Given the description of an element on the screen output the (x, y) to click on. 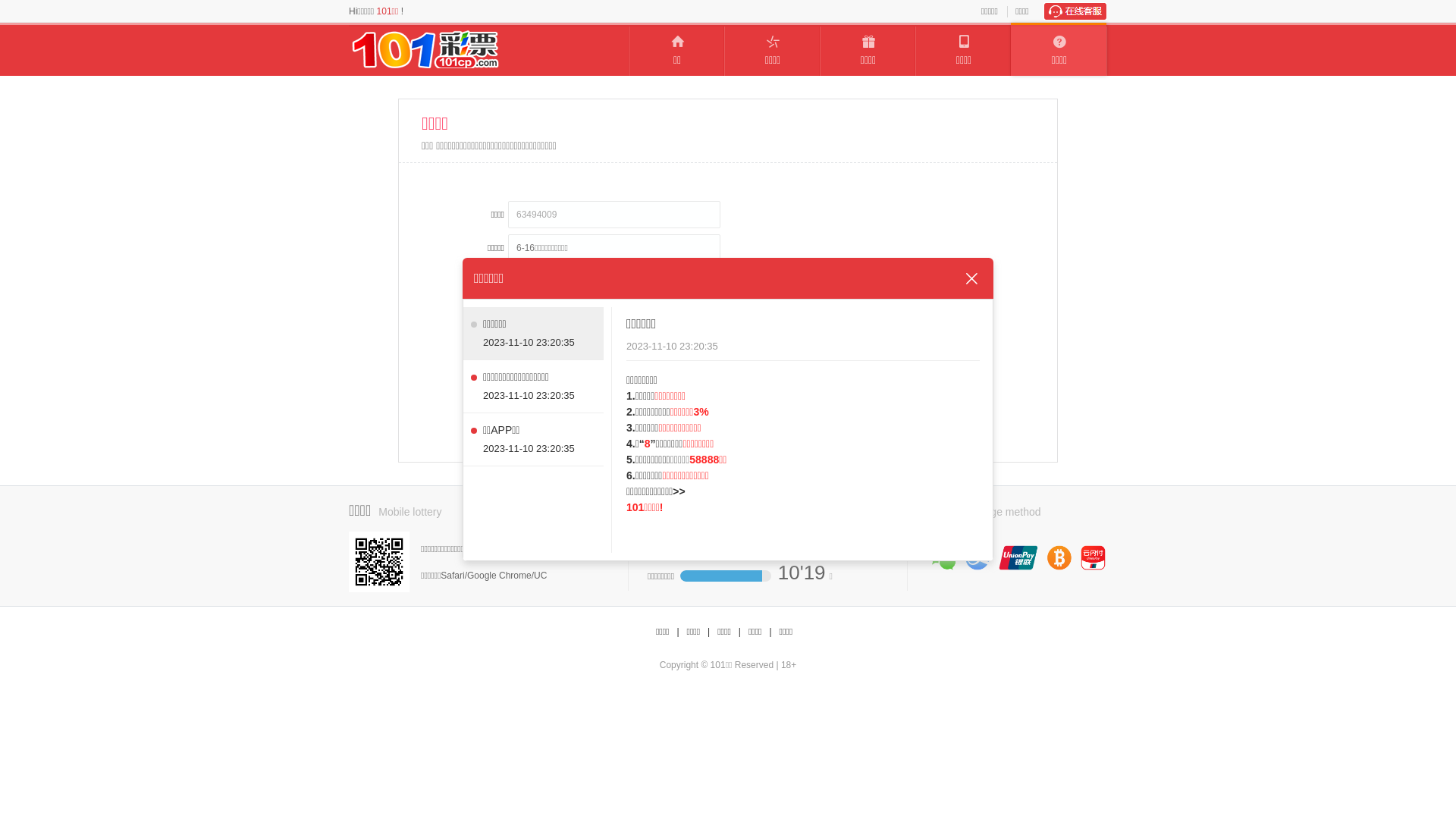
| Element type: text (677, 631)
| Element type: text (708, 631)
| Element type: text (769, 631)
| Element type: text (739, 631)
